Given the description of an element on the screen output the (x, y) to click on. 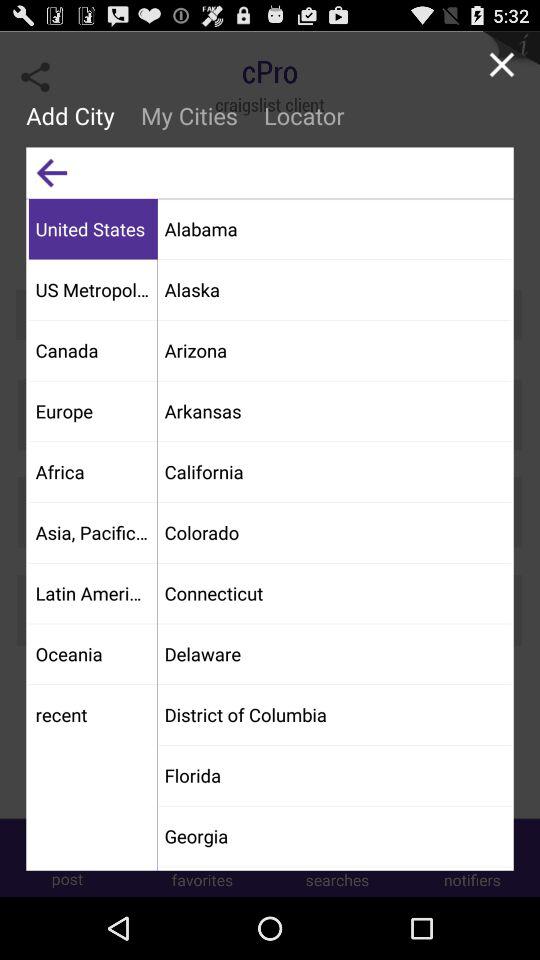
launch the item below the arkansas (334, 471)
